Given the description of an element on the screen output the (x, y) to click on. 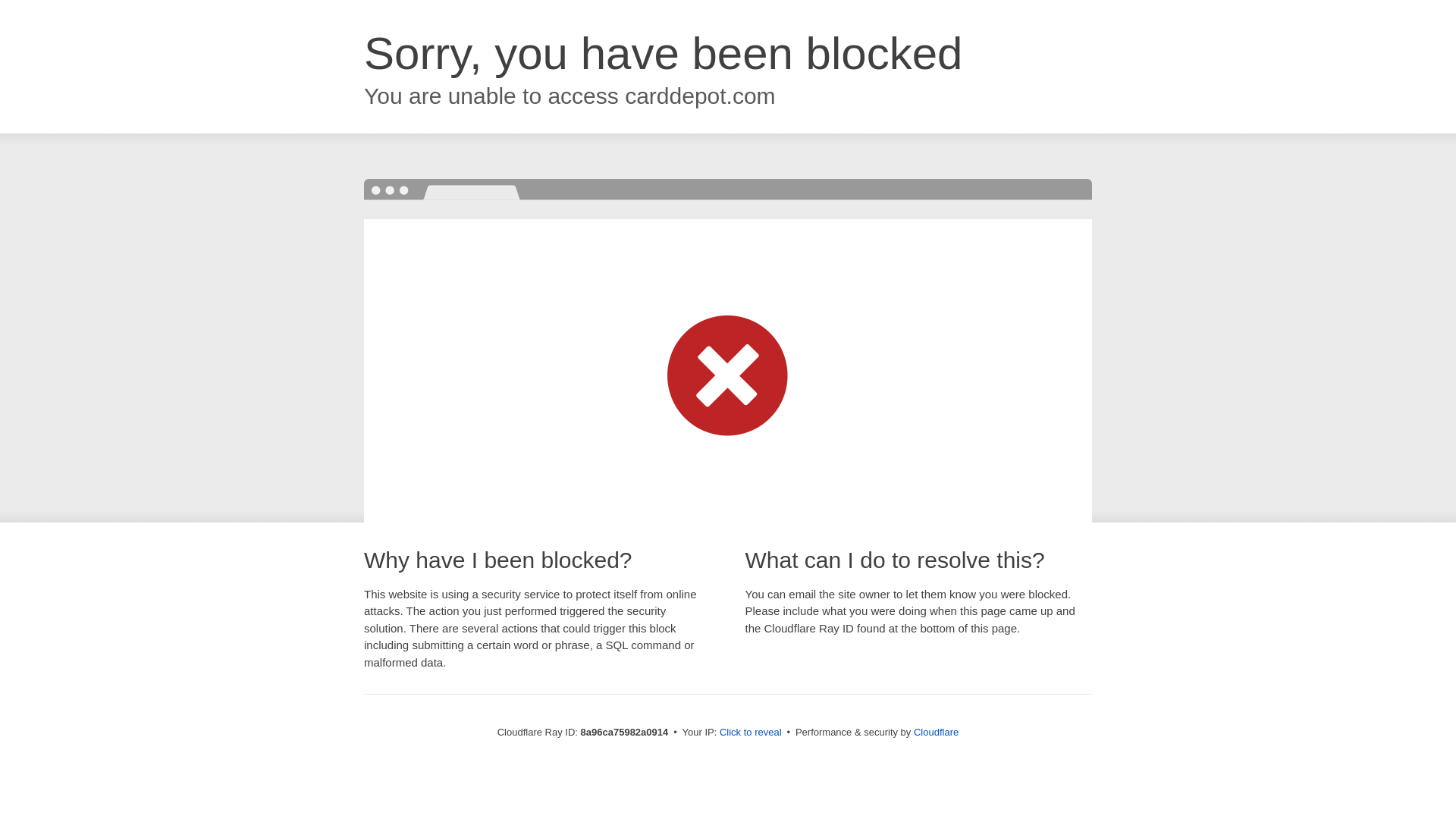
Cloudflare (936, 731)
Click to reveal (750, 732)
